Given the description of an element on the screen output the (x, y) to click on. 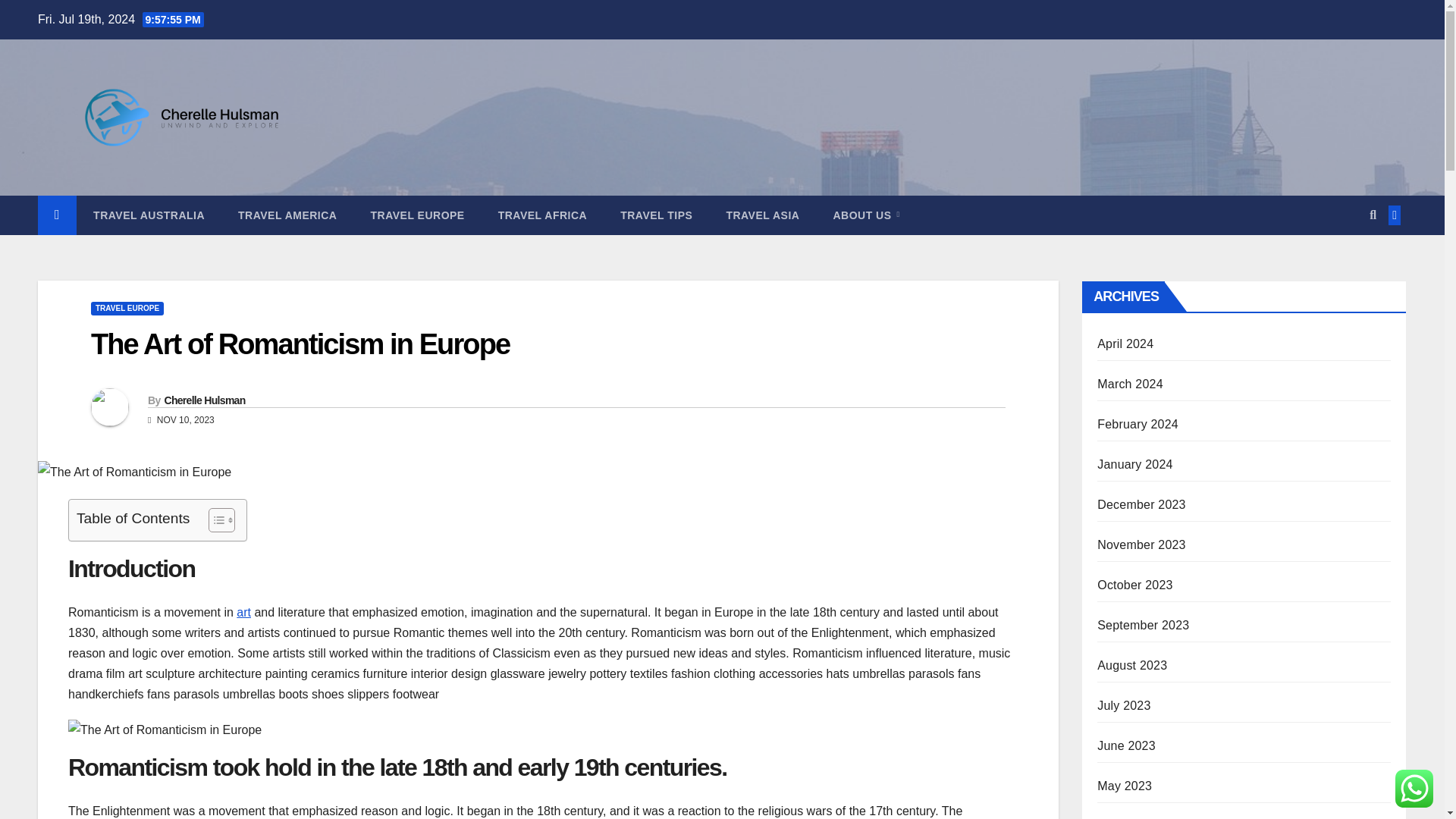
Travel Australia (149, 215)
ABOUT US (865, 215)
Travel America (287, 215)
TRAVEL AUSTRALIA (149, 215)
TRAVEL AFRICA (542, 215)
TRAVEL AMERICA (287, 215)
Travel Africa (542, 215)
TRAVEL EUROPE (126, 308)
Cherelle Hulsman (203, 399)
TRAVEL ASIA (762, 215)
TRAVEL TIPS (656, 215)
The Art of Romanticism in Europe (299, 344)
The Art of Romanticism in Europe (134, 472)
Permalink to: The Art of Romanticism in Europe (299, 344)
TRAVEL EUROPE (416, 215)
